Given the description of an element on the screen output the (x, y) to click on. 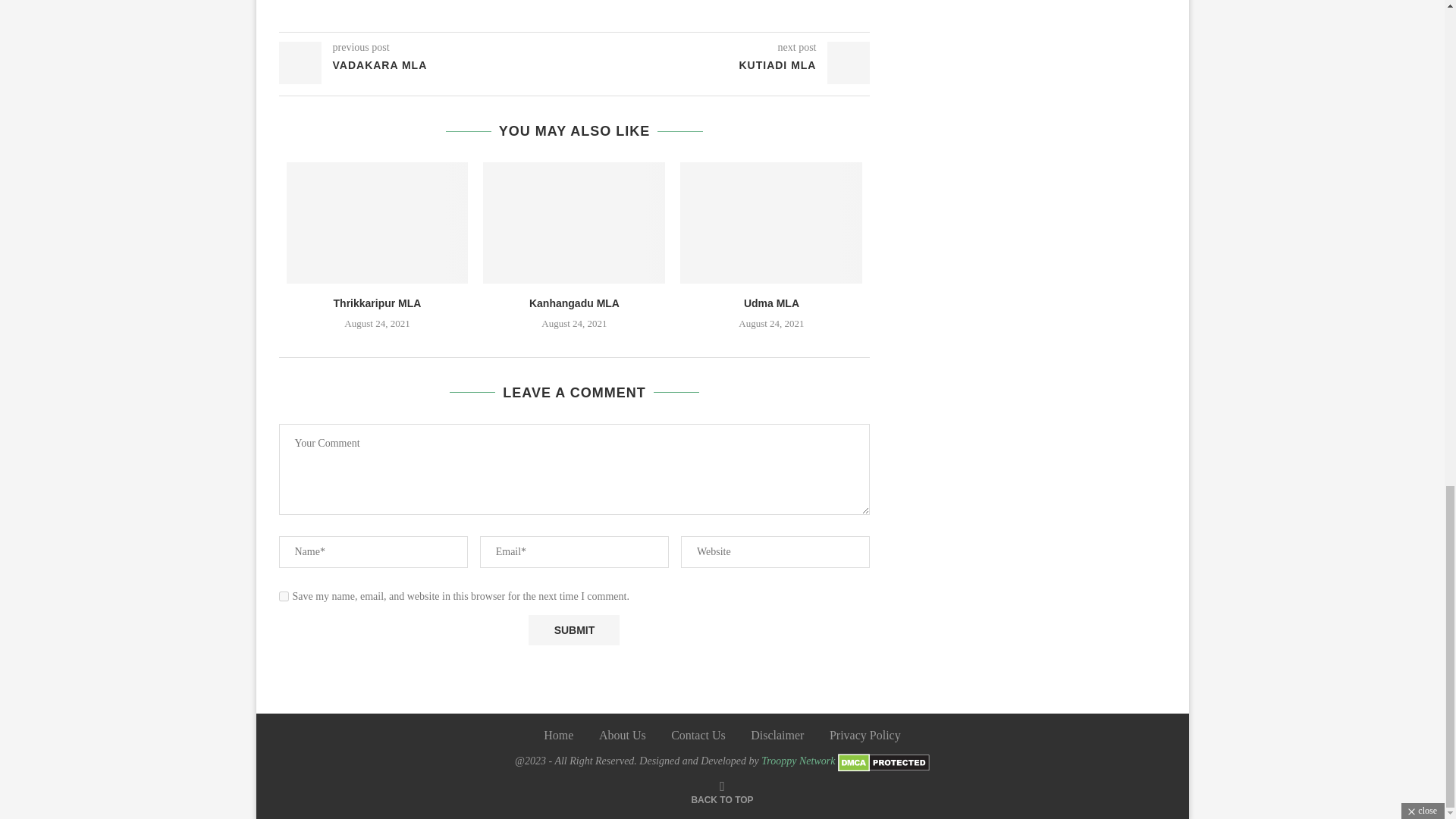
Submit (574, 630)
Kanhangadu MLA (574, 303)
Kanhangadu MLA (574, 222)
Thrikkaripur MLA (377, 303)
Udma MLA (771, 303)
Submit (574, 630)
DMCA.com Protection Status (884, 760)
KUTIADI MLA (722, 65)
Thrikkaripur MLA (377, 222)
yes (283, 596)
Udma MLA (770, 222)
VADAKARA MLA (427, 65)
